Given the description of an element on the screen output the (x, y) to click on. 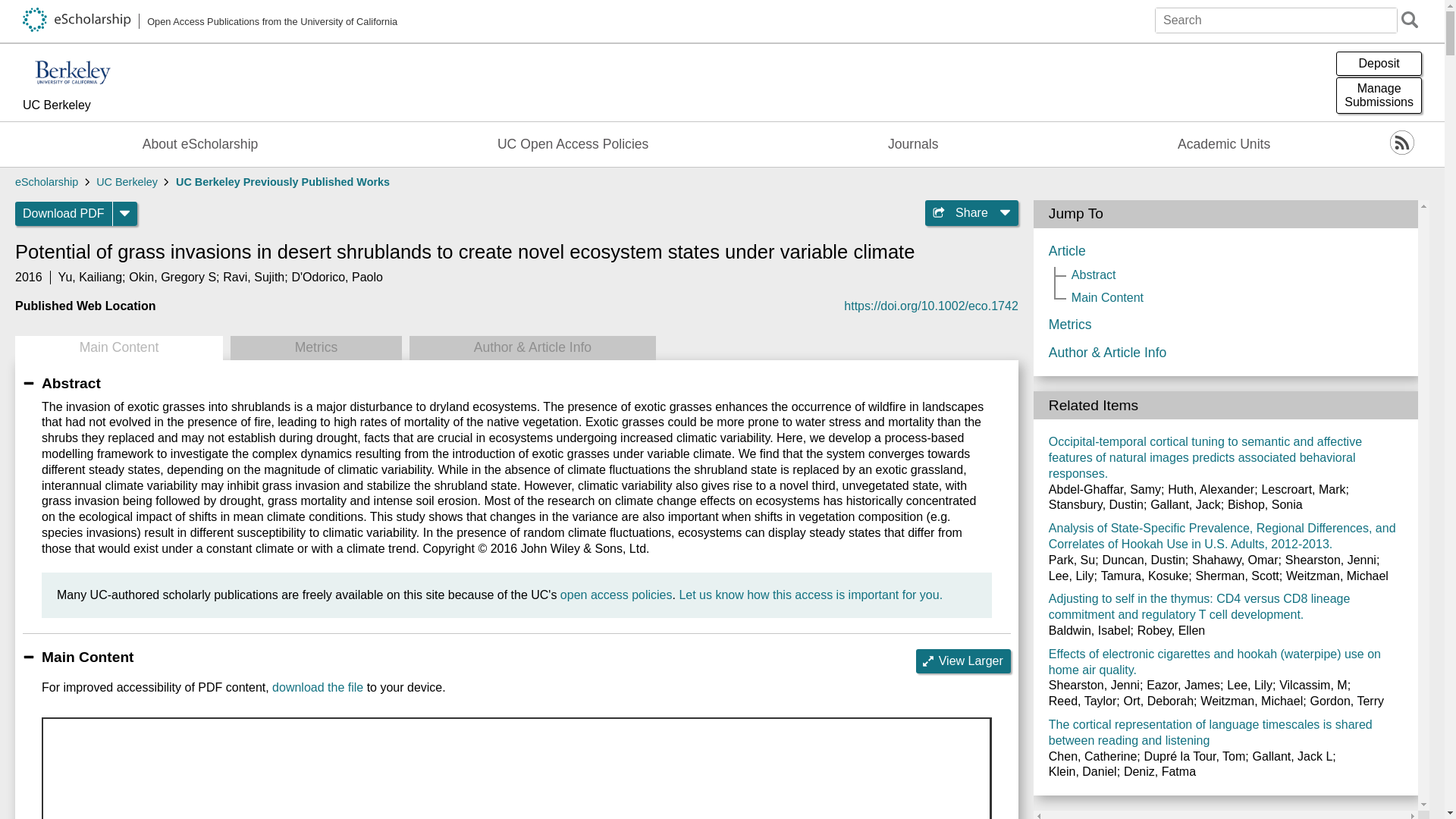
Deposit (1379, 63)
Academic Units (1224, 143)
UC Open Access Policies (572, 143)
Open Access Publications from the University of California (210, 21)
Download PDF (63, 213)
open access policies (616, 594)
Let us know how this access is important for you. (810, 594)
download the file (1379, 94)
View Larger (317, 686)
Ravi, Sujith (962, 661)
UC Berkeley (252, 277)
eScholarship (89, 105)
Journals (46, 182)
Metrics (913, 143)
